Given the description of an element on the screen output the (x, y) to click on. 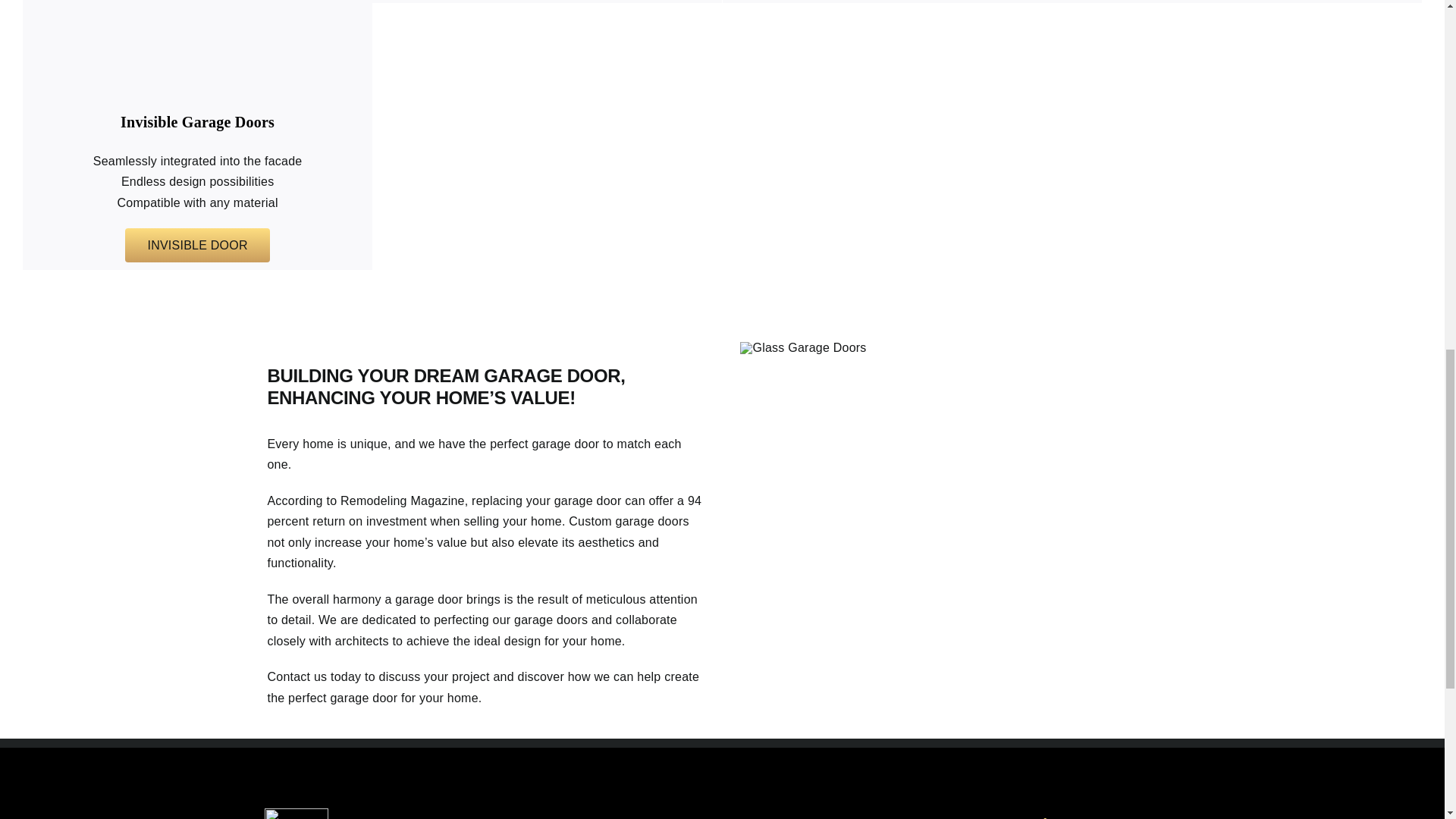
Logo-transparency-1-e1660735681859 (296, 813)
INVISIBLE DOOR (197, 245)
Glass Garage Doors (802, 347)
